Given the description of an element on the screen output the (x, y) to click on. 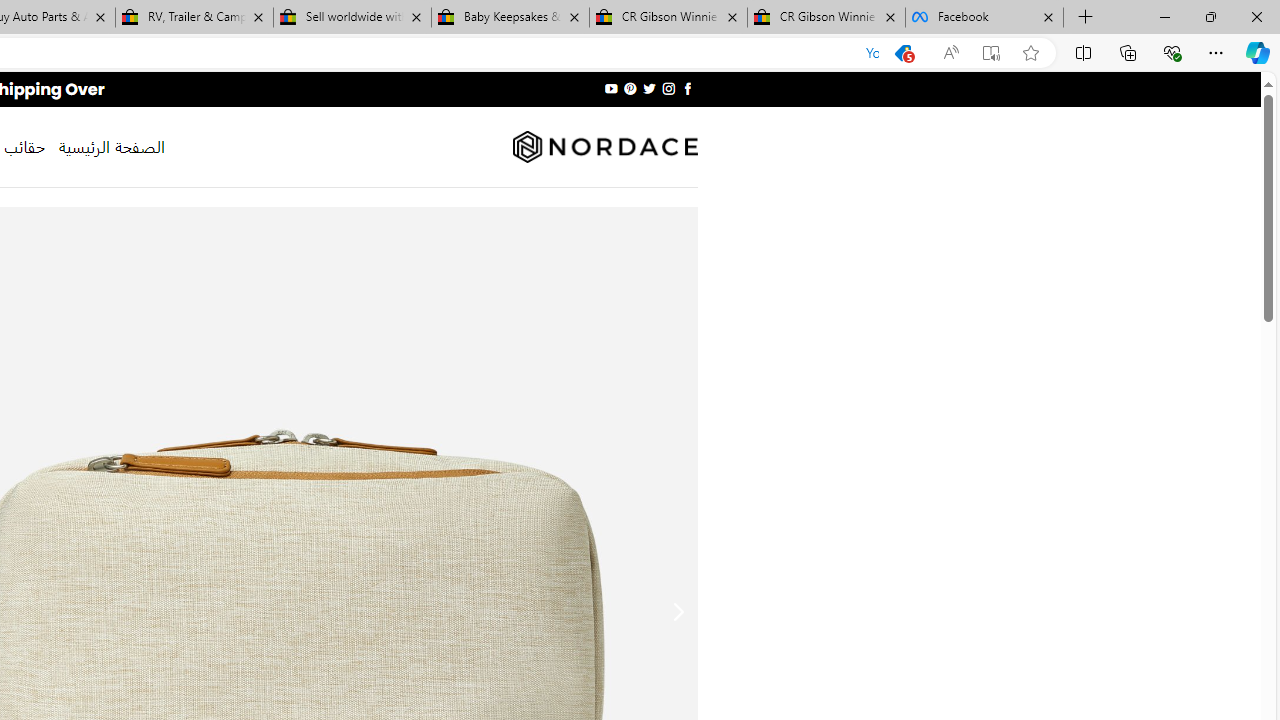
RV, Trailer & Camper Steps & Ladders for sale | eBay (194, 17)
Follow on Instagram (667, 88)
Follow on Pinterest (630, 88)
Follow on Facebook (686, 88)
Facebook (984, 17)
You have the best price! (902, 53)
